Given the description of an element on the screen output the (x, y) to click on. 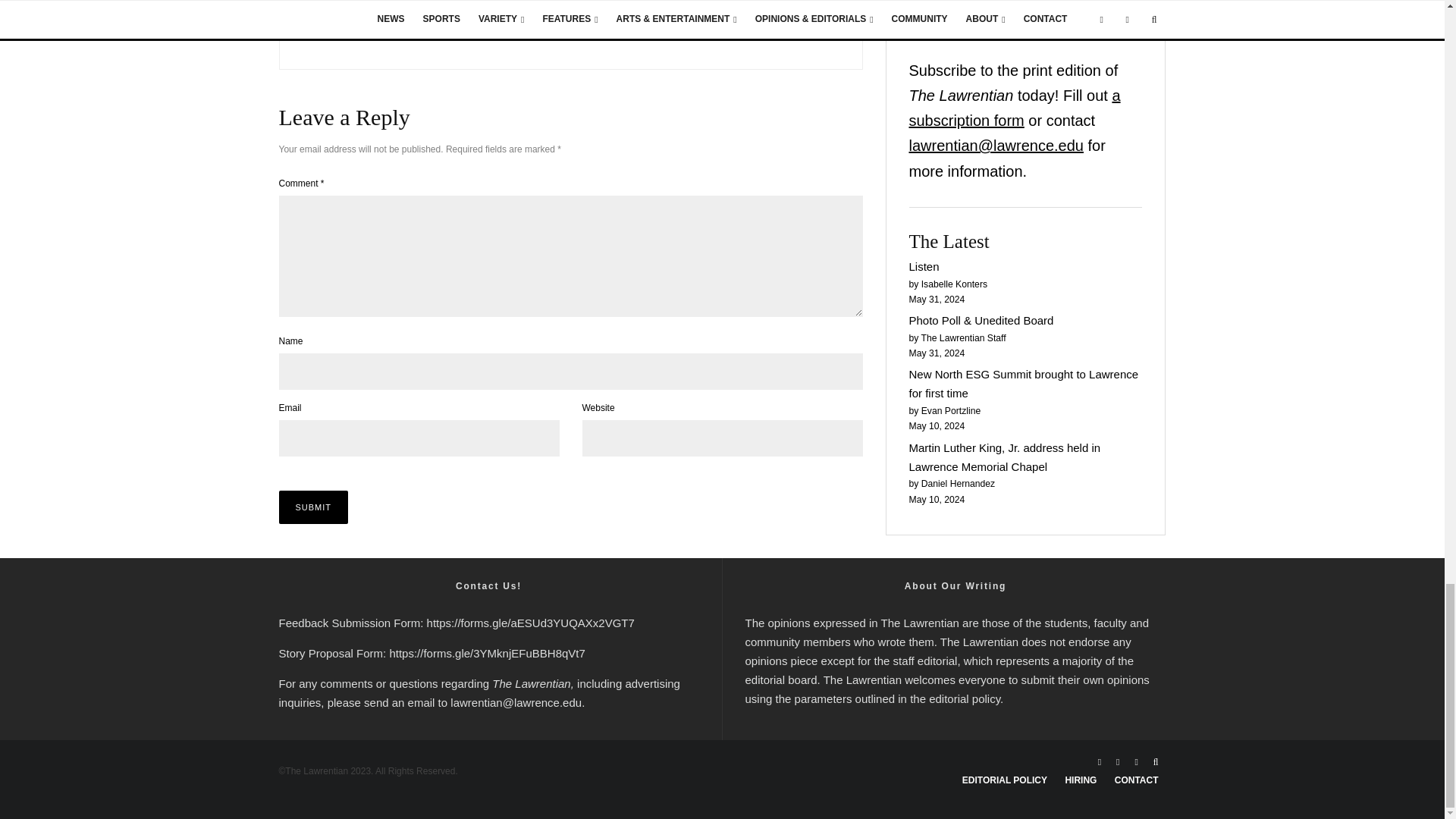
Page 11 (955, 661)
Submit (314, 507)
